Given the description of an element on the screen output the (x, y) to click on. 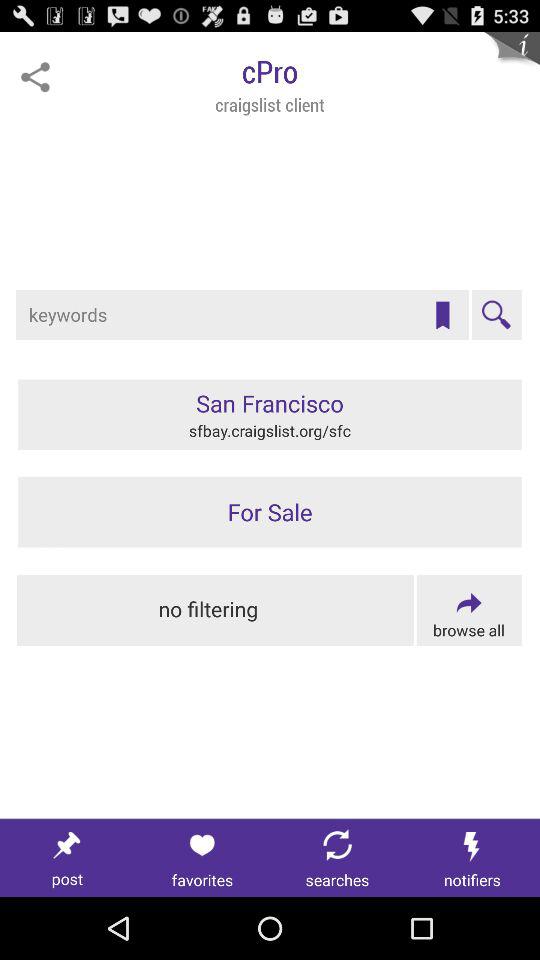
bookmark (442, 315)
